Given the description of an element on the screen output the (x, y) to click on. 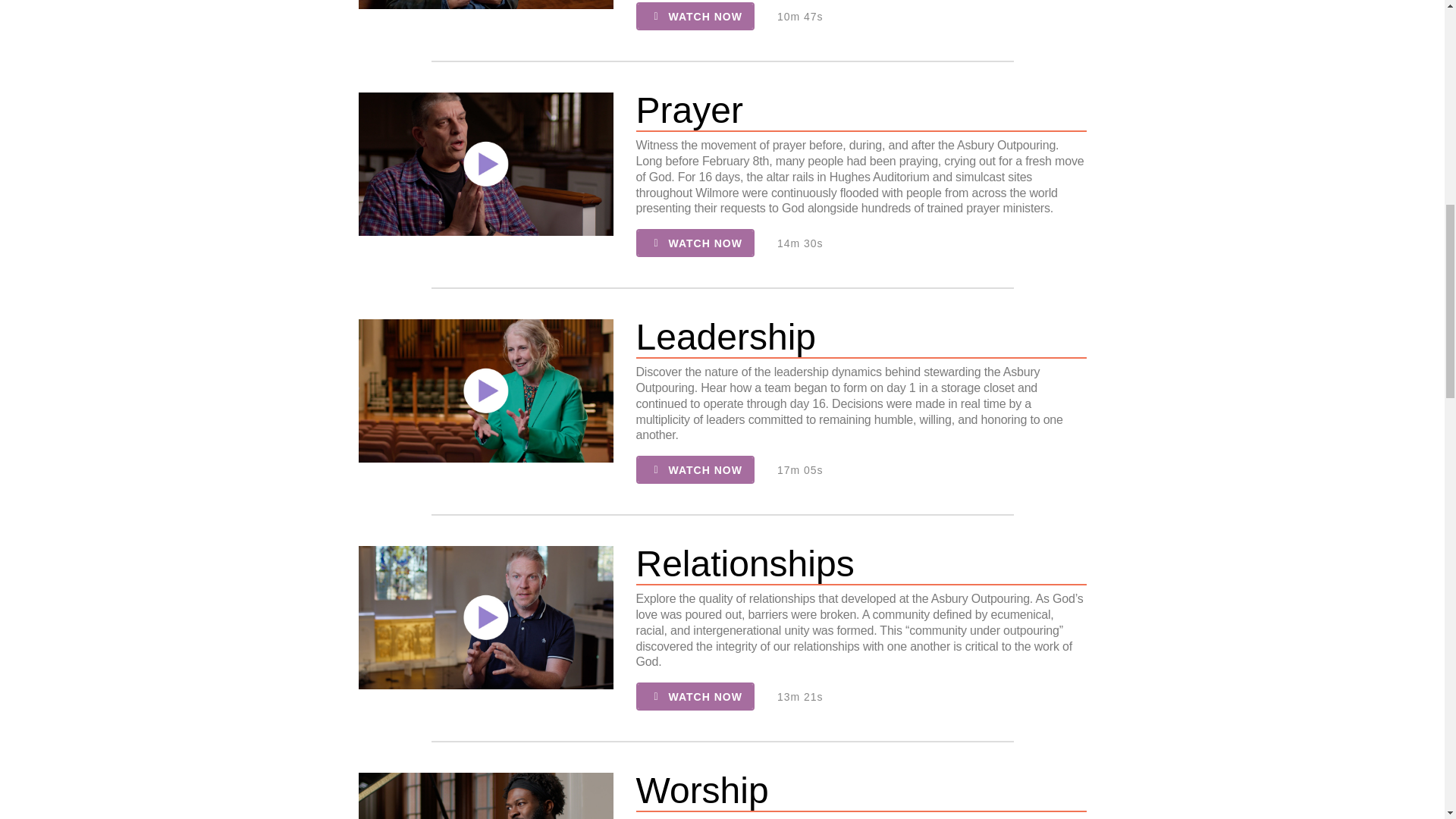
WATCH NOW (694, 469)
WATCH NOW (694, 243)
WATCH NOW (694, 696)
WATCH NOW (694, 16)
